Given the description of an element on the screen output the (x, y) to click on. 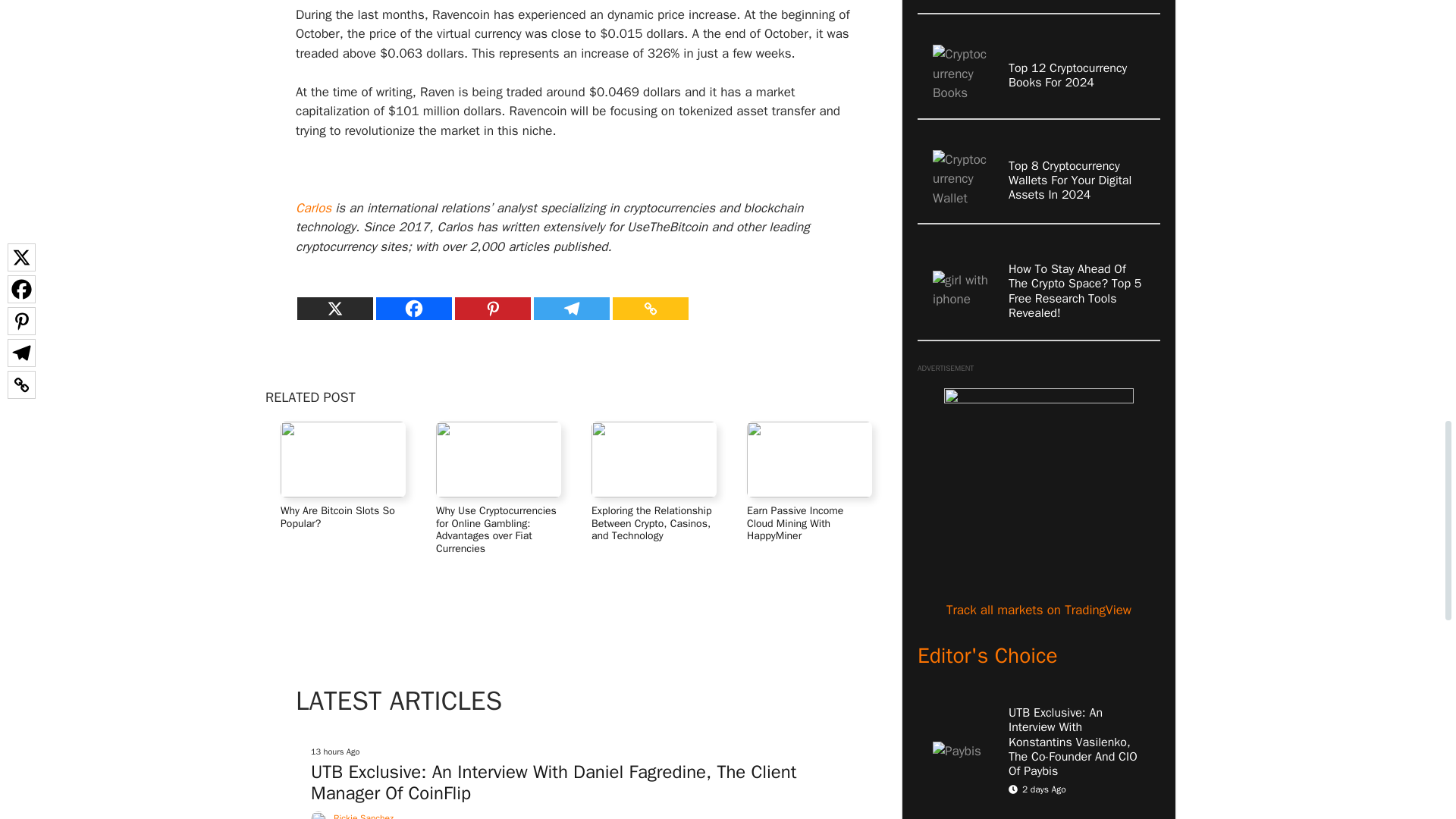
X (334, 308)
Pinterest (492, 308)
Facebook (413, 308)
Telegram (572, 308)
